Given the description of an element on the screen output the (x, y) to click on. 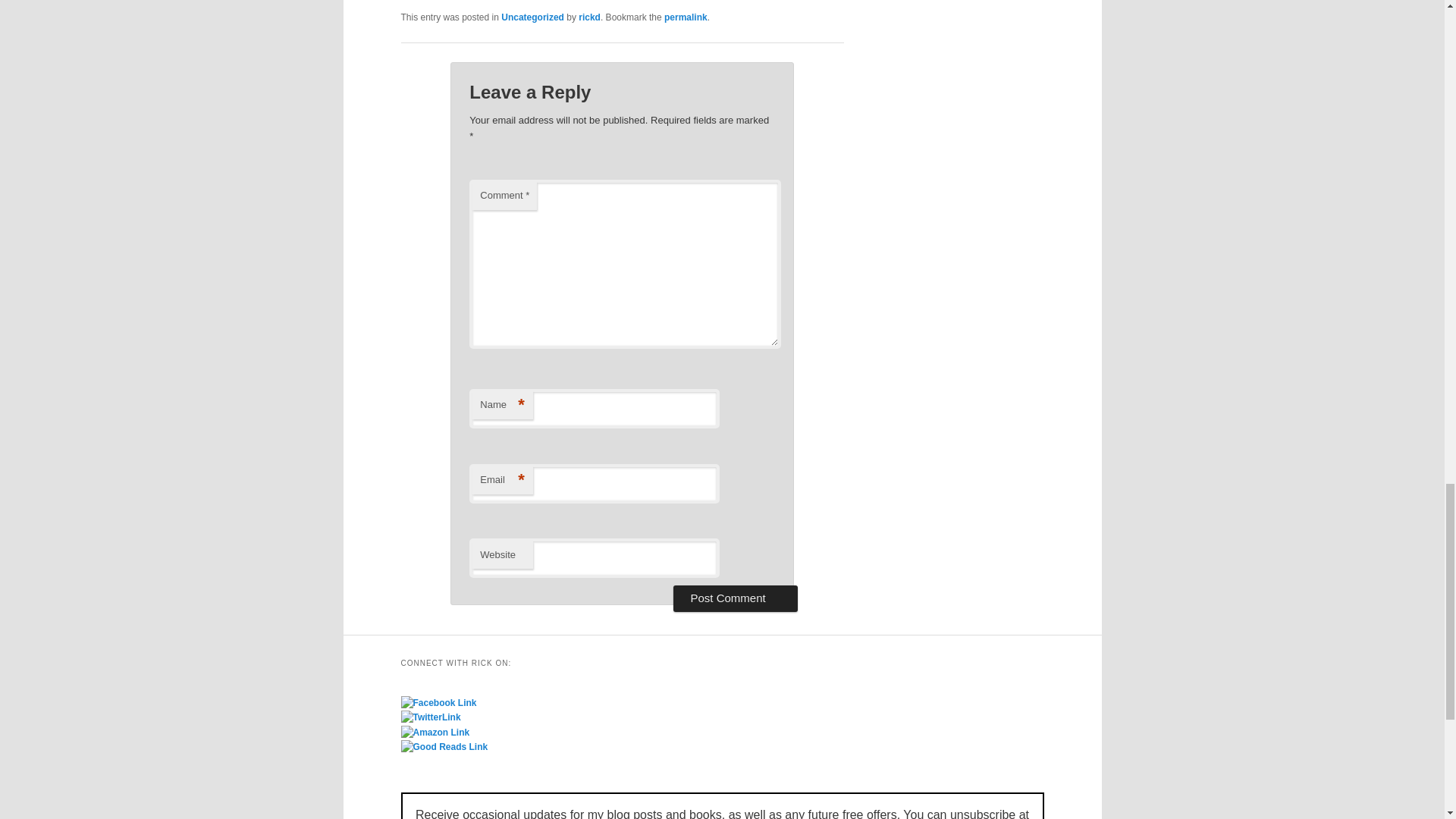
Permalink to VETERANS DAY WISHES (685, 17)
Post Comment (734, 597)
permalink (685, 17)
Uncategorized (532, 17)
rickd (588, 17)
Post Comment (734, 597)
